Given the description of an element on the screen output the (x, y) to click on. 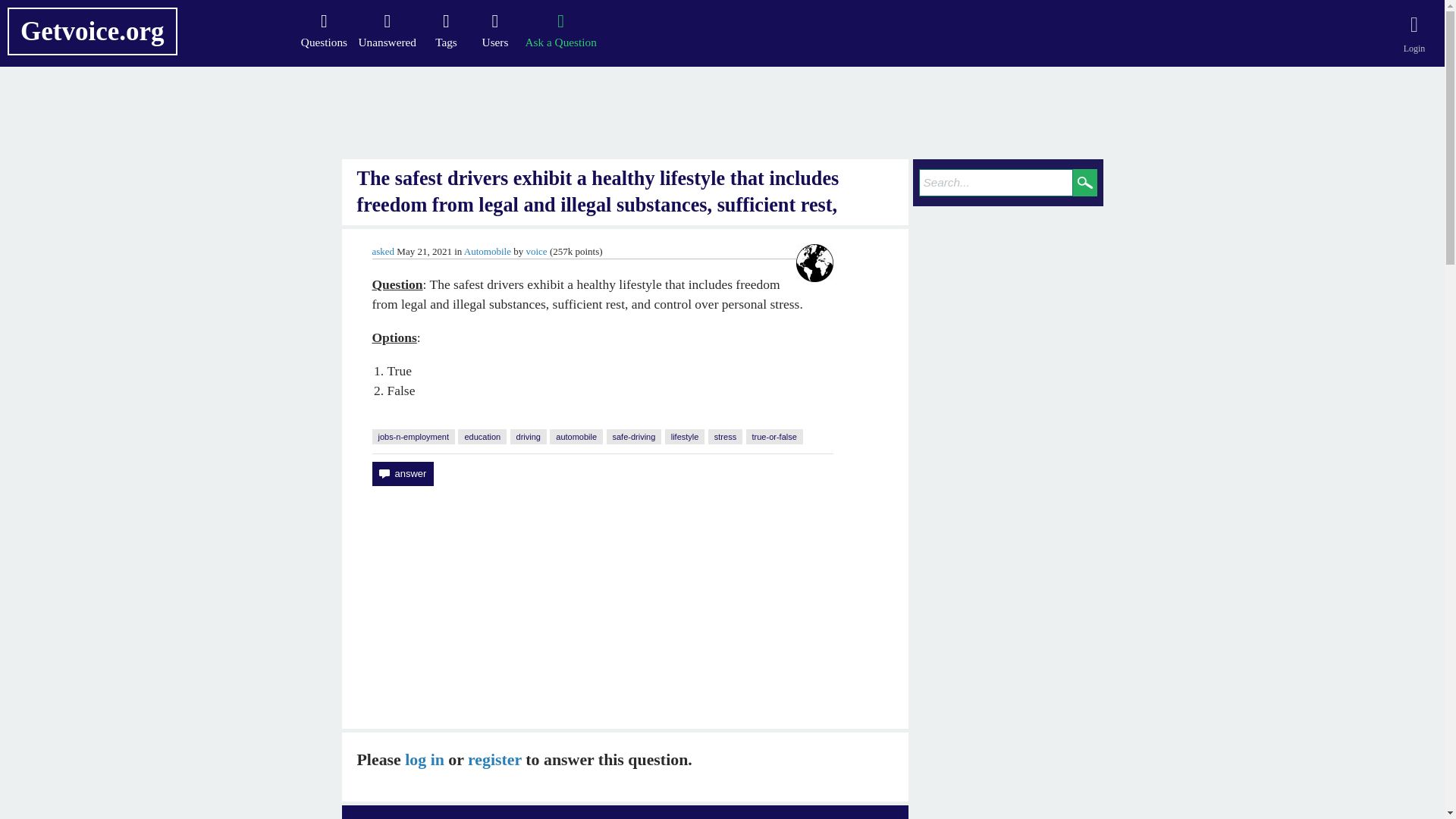
Getvoice.org (92, 31)
log in (424, 760)
asked (382, 251)
Tags (445, 30)
answer (402, 473)
register (494, 760)
Questions (323, 30)
Search (1085, 182)
lifestyle (684, 437)
Ask a Question (560, 30)
Unanswered (387, 30)
Advertisement (624, 607)
education (482, 437)
true-or-false (774, 437)
answer (402, 473)
